Given the description of an element on the screen output the (x, y) to click on. 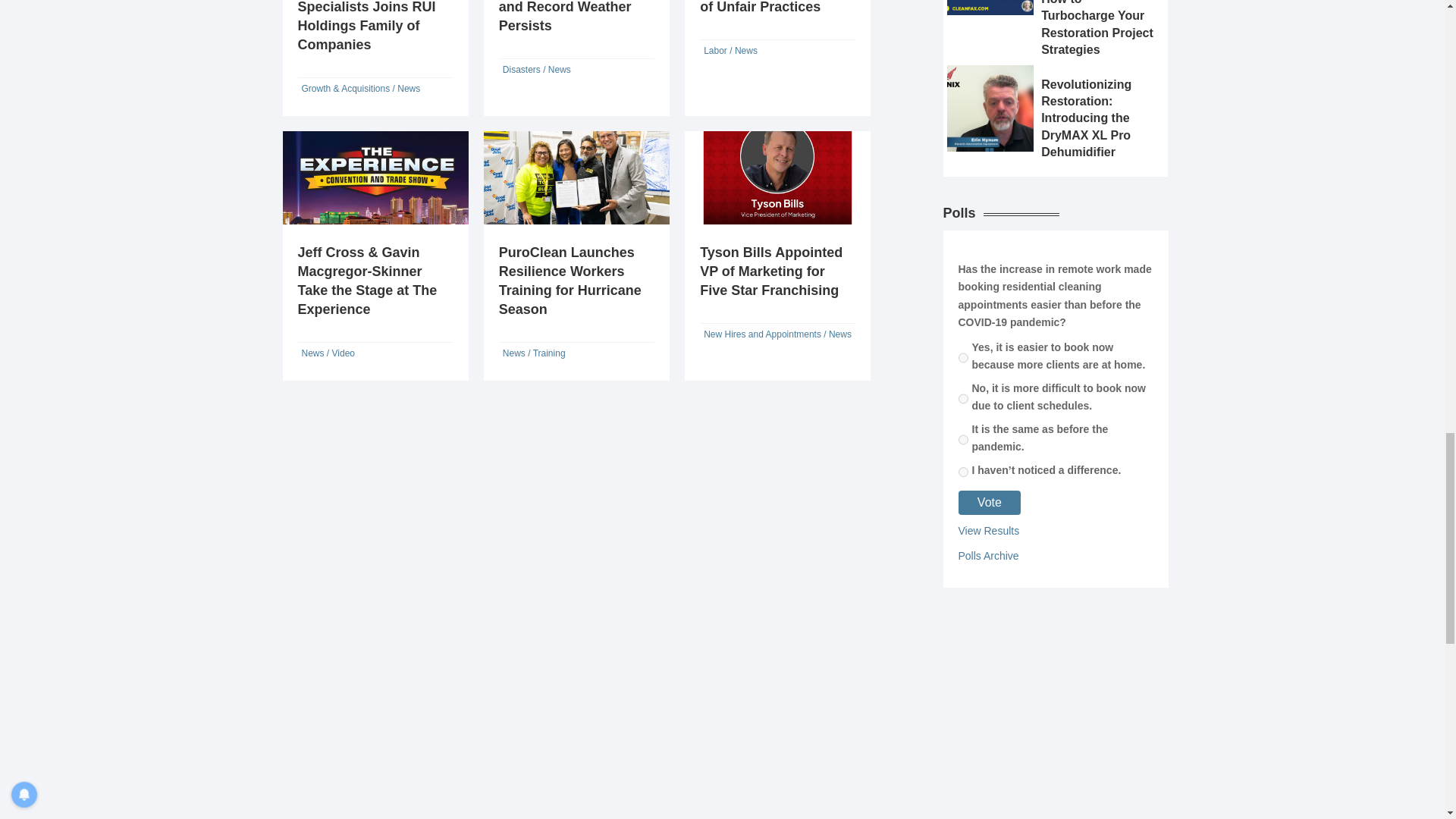
Destructive, Deadly, and Record Weather Persists (565, 16)
   Vote    (990, 502)
